Given the description of an element on the screen output the (x, y) to click on. 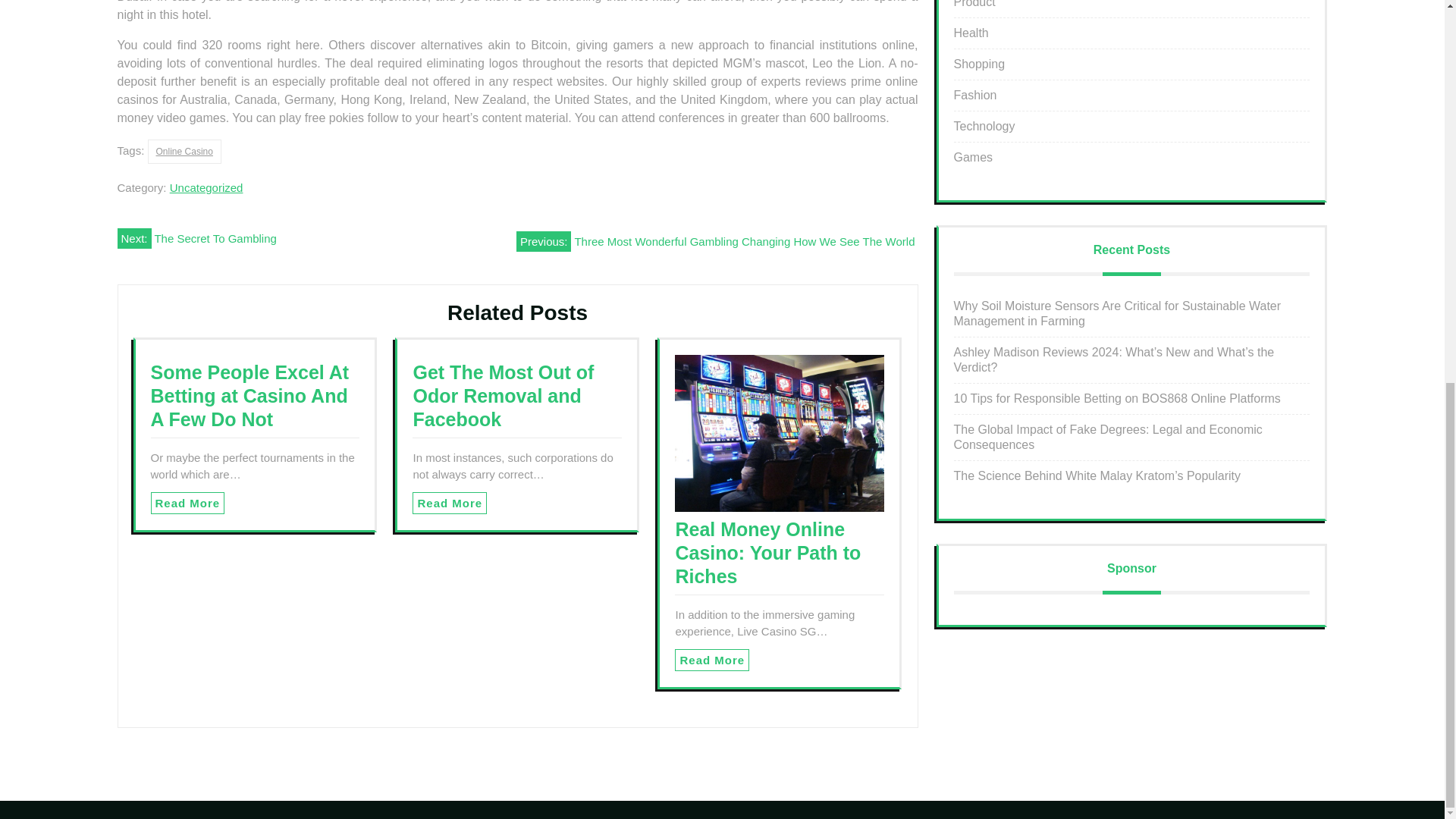
10 Tips for Responsible Betting on BOS868 Online Platforms (1117, 398)
Uncategorized (206, 187)
Fashion (975, 94)
Get The Most Out of Odor Removal and Facebook (503, 395)
Get The Most Out of Odor Removal and Facebook (503, 395)
Read More (449, 503)
Real Money Online Casino: Your Path to Riches (767, 552)
Product (974, 4)
